Given the description of an element on the screen output the (x, y) to click on. 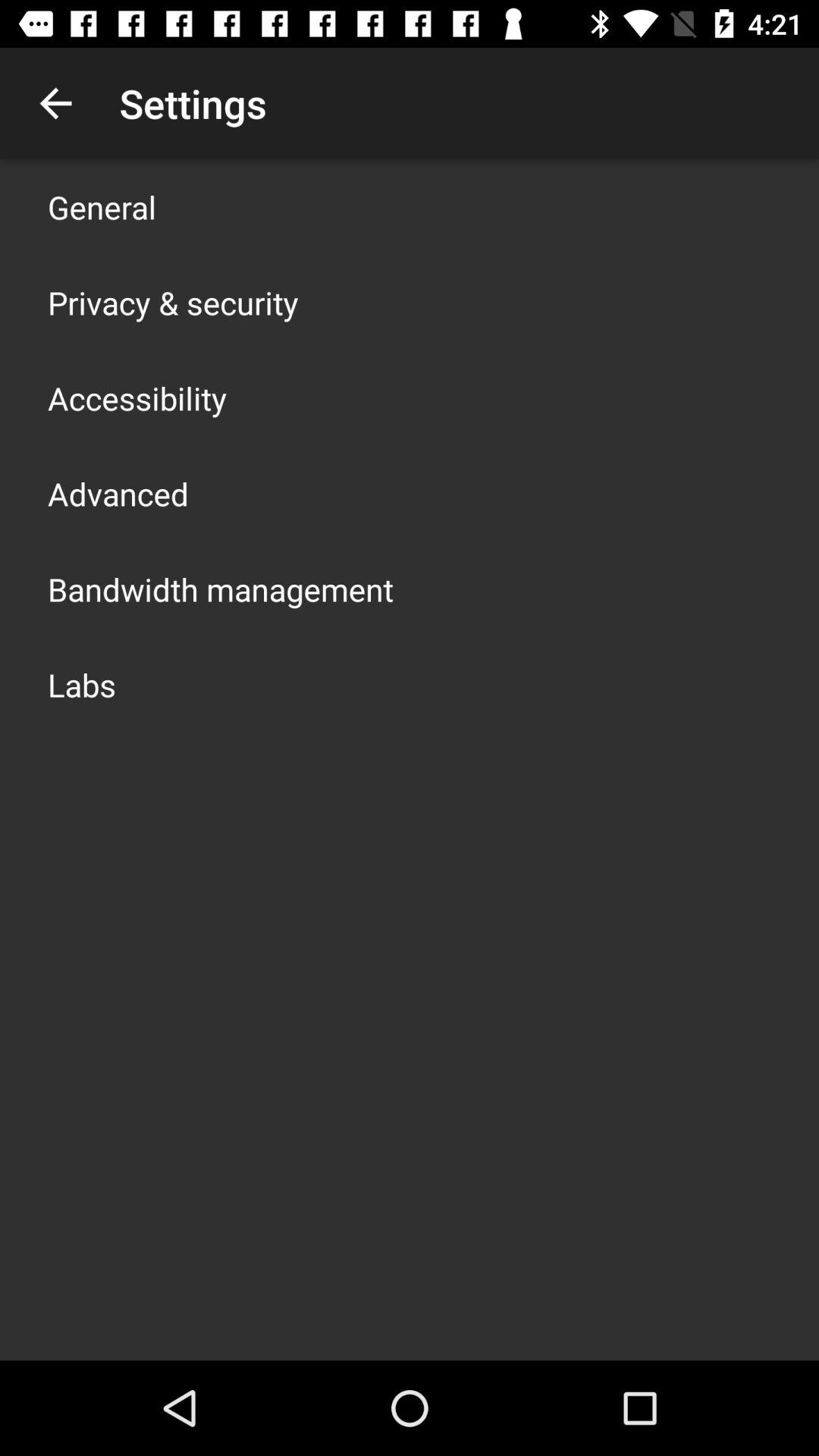
turn on general icon (101, 206)
